Given the description of an element on the screen output the (x, y) to click on. 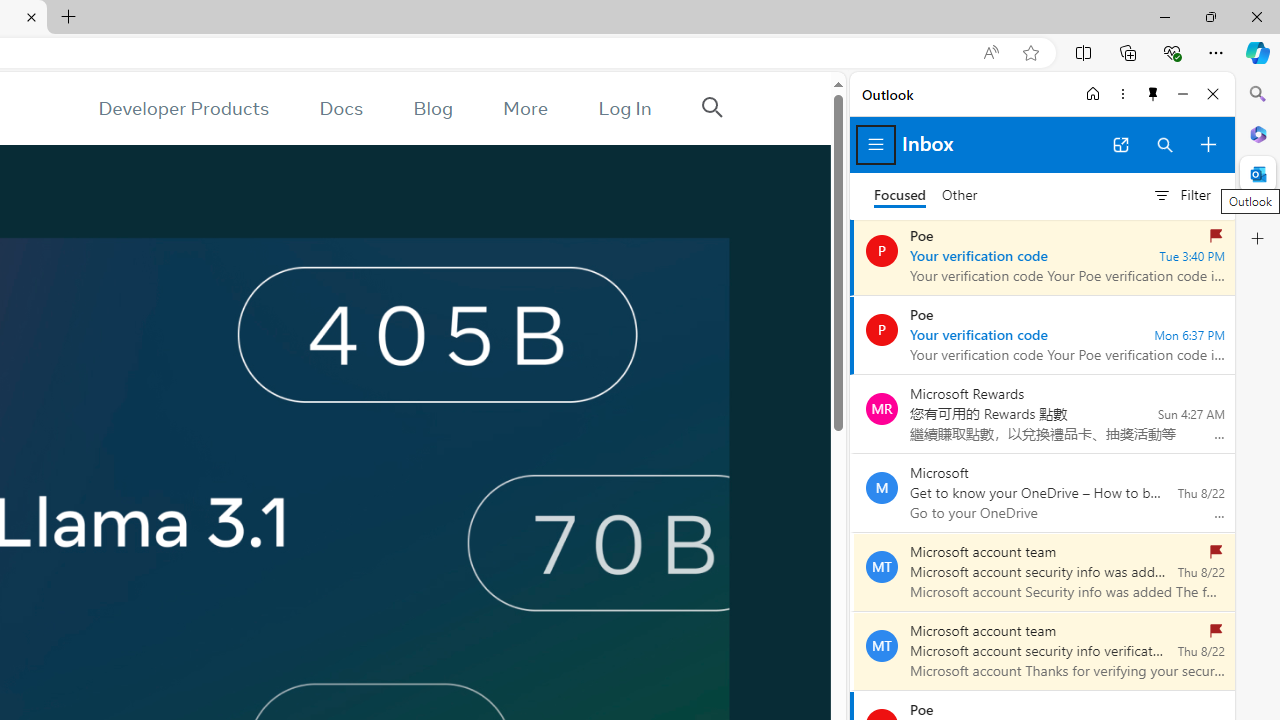
Folder navigation (876, 144)
Docs (341, 108)
Blog (432, 108)
More (525, 108)
Blog (432, 108)
Compose new mail (1208, 144)
Unpin side pane (1153, 93)
Microsoft 365 (1258, 133)
Log In (625, 108)
